Given the description of an element on the screen output the (x, y) to click on. 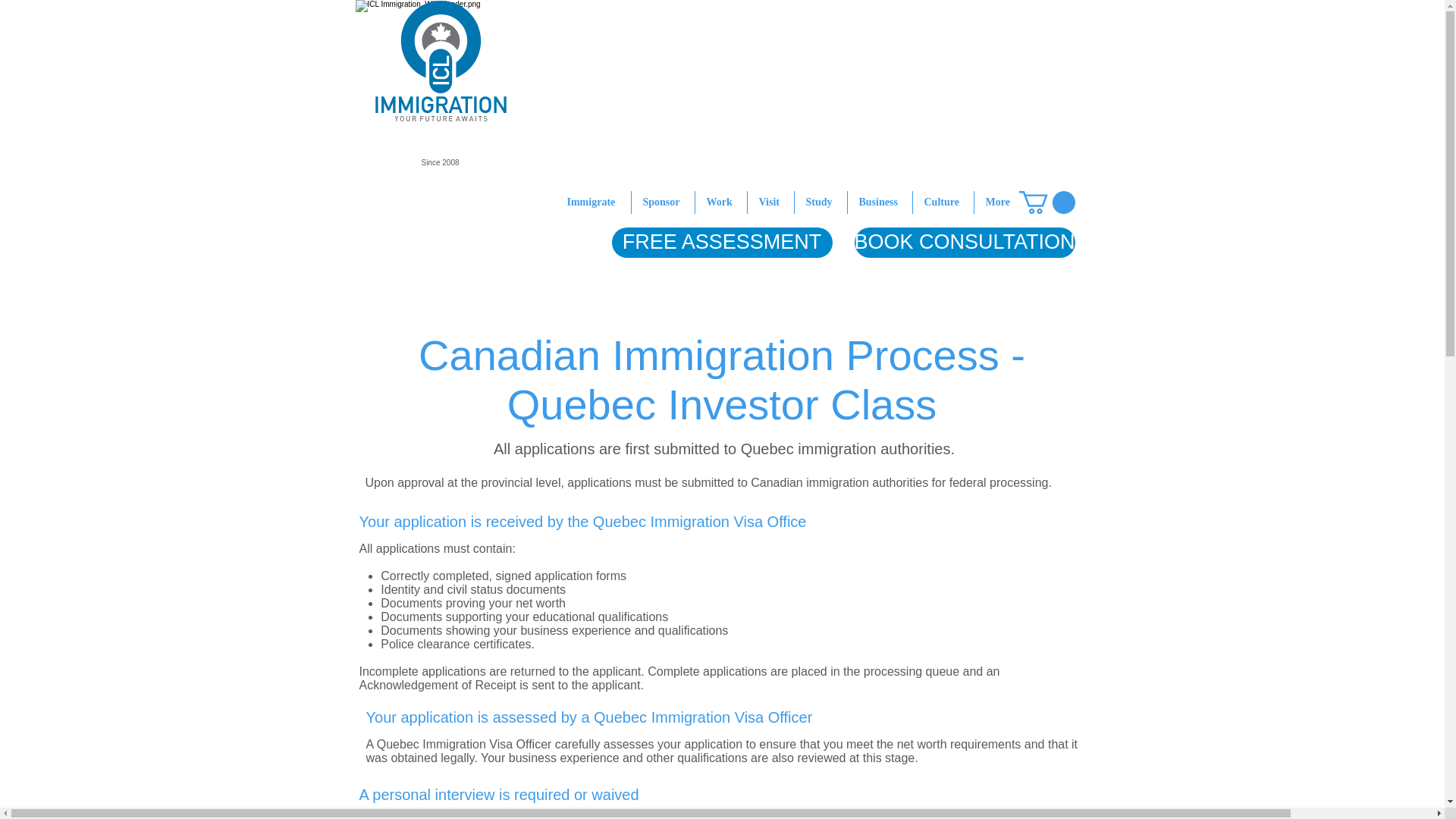
Study (820, 201)
Visit (770, 201)
Immigrate (592, 201)
Sponsor (662, 201)
Work (719, 201)
